Given the description of an element on the screen output the (x, y) to click on. 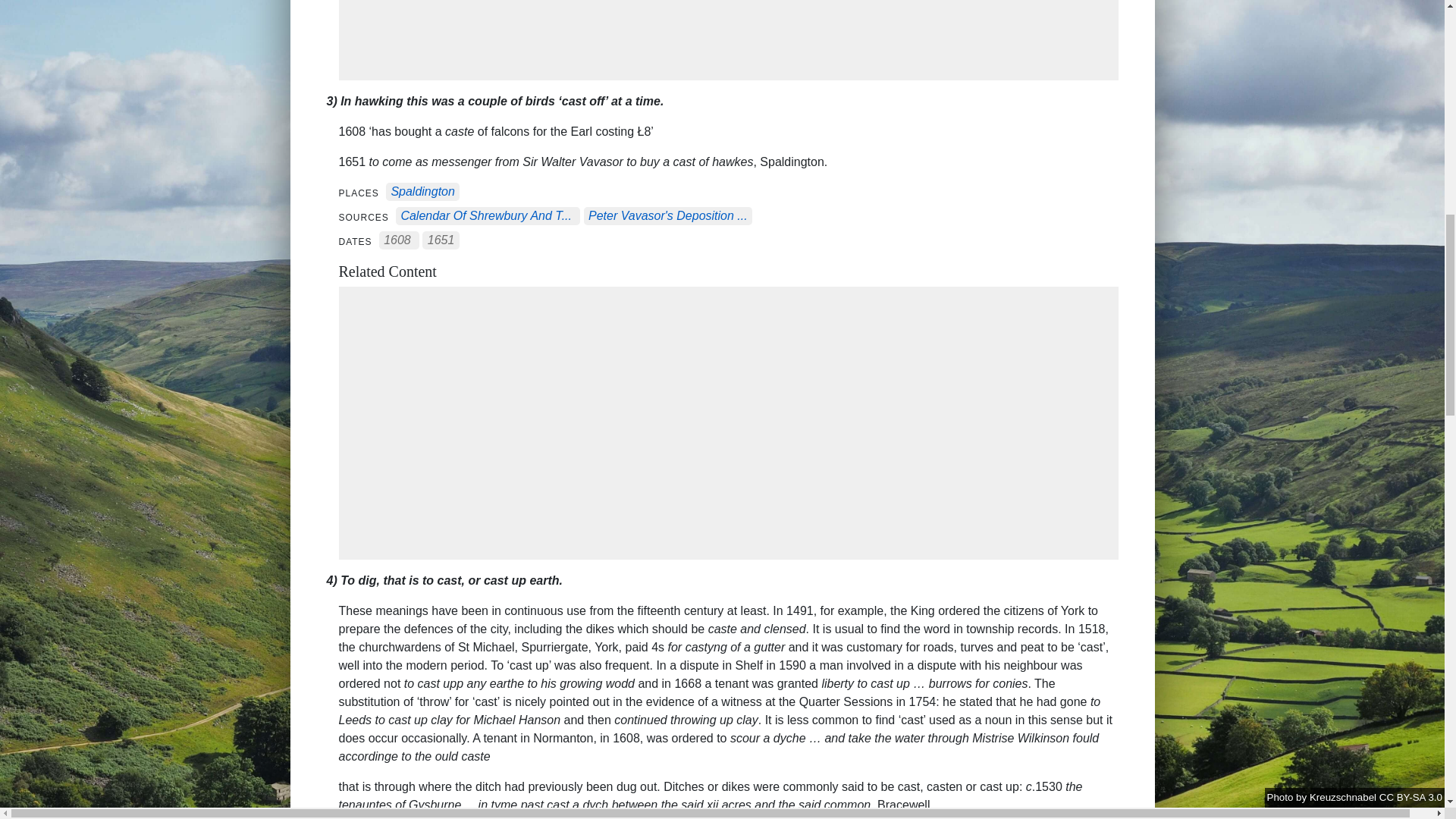
Spaldington (422, 192)
Calendar Of Shrewbury And T... (486, 215)
Peter Vavasor'S Deposition ... (668, 215)
